Given the description of an element on the screen output the (x, y) to click on. 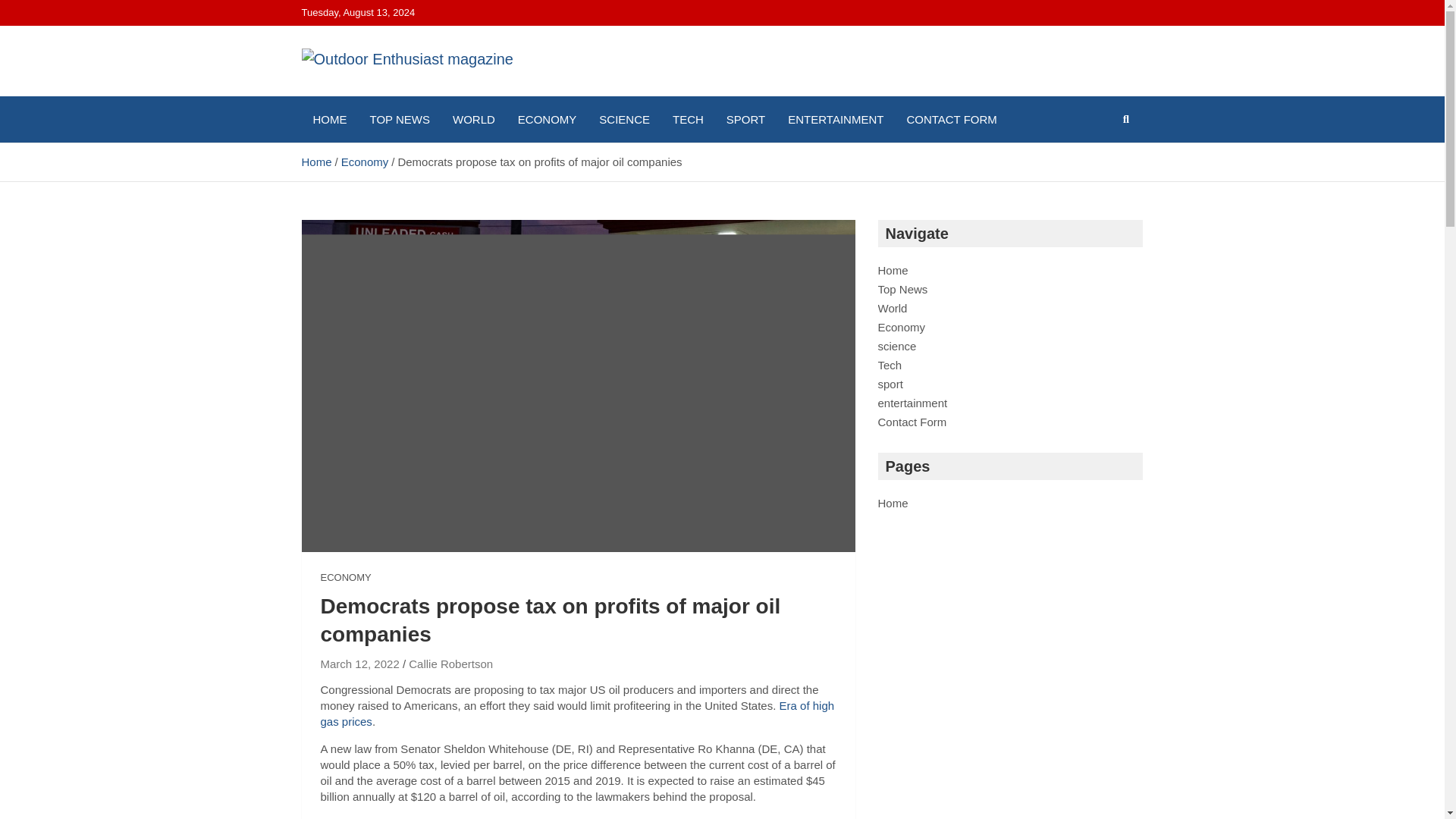
CONTACT FORM (951, 119)
March 12, 2022 (359, 663)
Outdoor Enthusiast magazine (379, 132)
ECONOMY (547, 119)
Era of high gas prices (577, 713)
ENTERTAINMENT (835, 119)
Democrats propose tax on profits of major oil companies (359, 663)
sport (889, 383)
SCIENCE (624, 119)
science (897, 345)
